Given the description of an element on the screen output the (x, y) to click on. 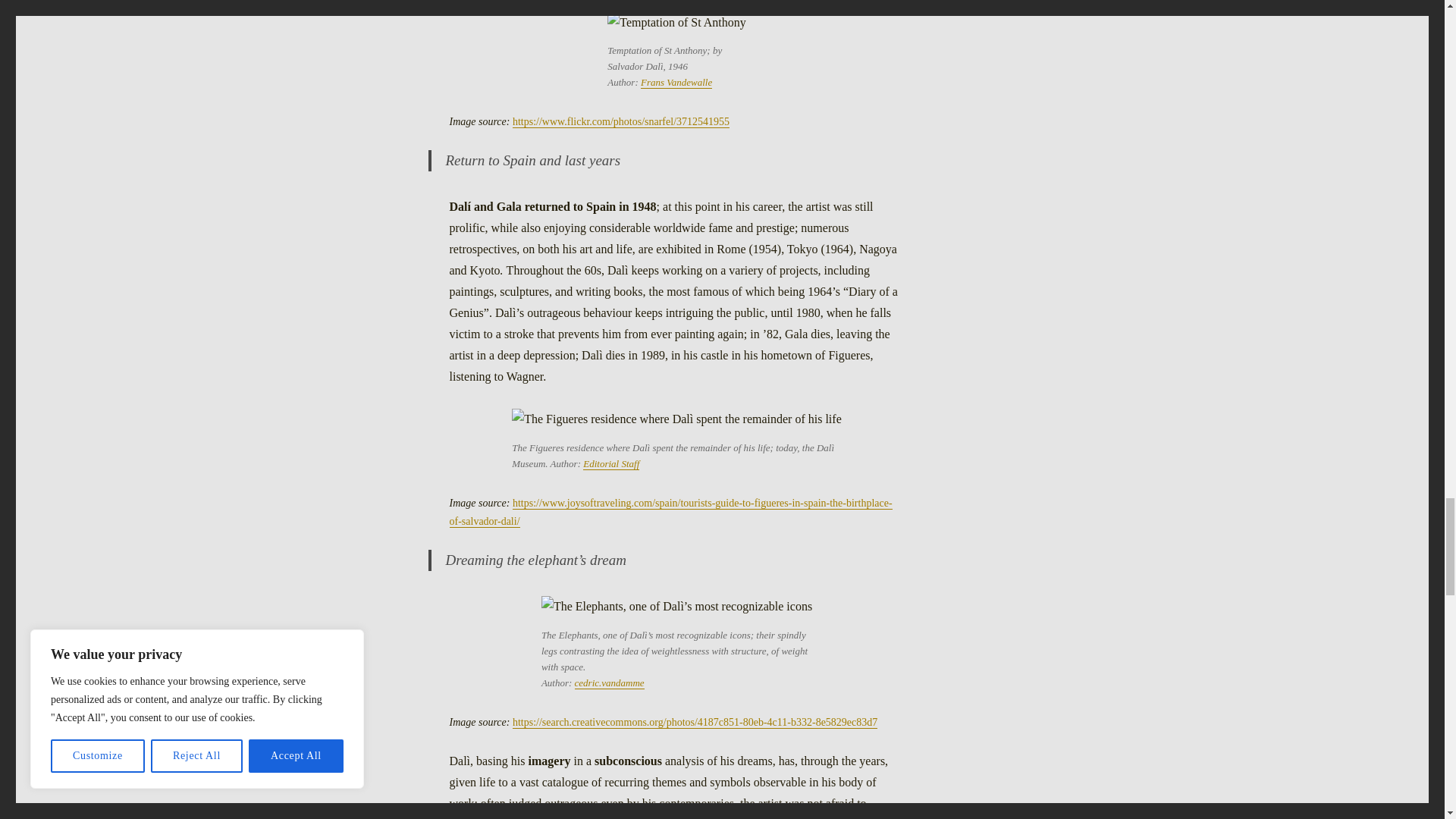
Frans Vandewalle (675, 81)
